Given the description of an element on the screen output the (x, y) to click on. 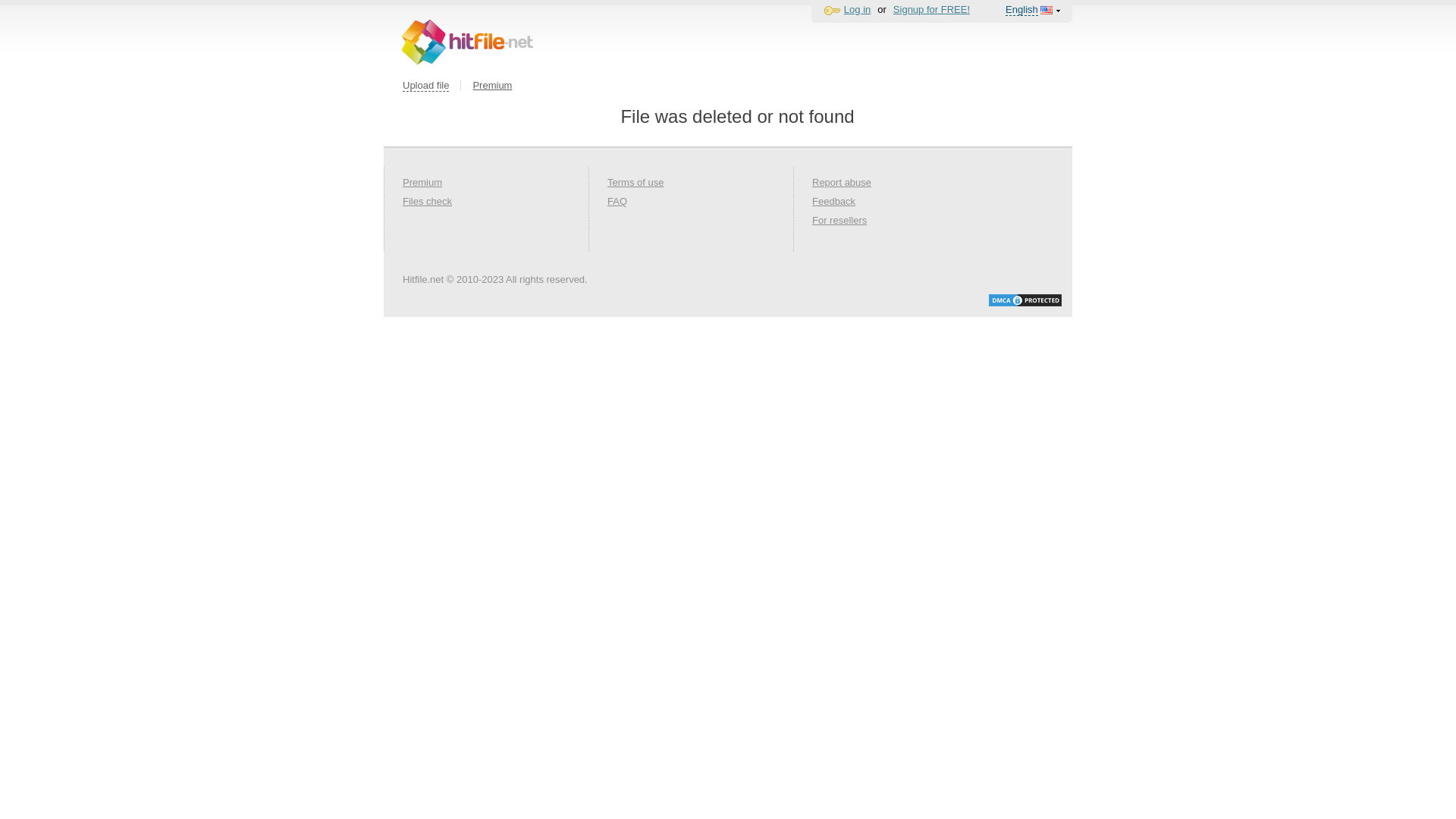
Log in Element type: text (857, 9)
FAQ Element type: text (617, 213)
Premium Element type: text (491, 85)
For resellers Element type: text (839, 232)
Feedback Element type: text (833, 213)
Files check Element type: text (426, 213)
Terms of use Element type: text (635, 194)
Report abuse Element type: text (841, 194)
Premium Element type: text (422, 194)
Signup for FREE! Element type: text (931, 9)
